Given the description of an element on the screen output the (x, y) to click on. 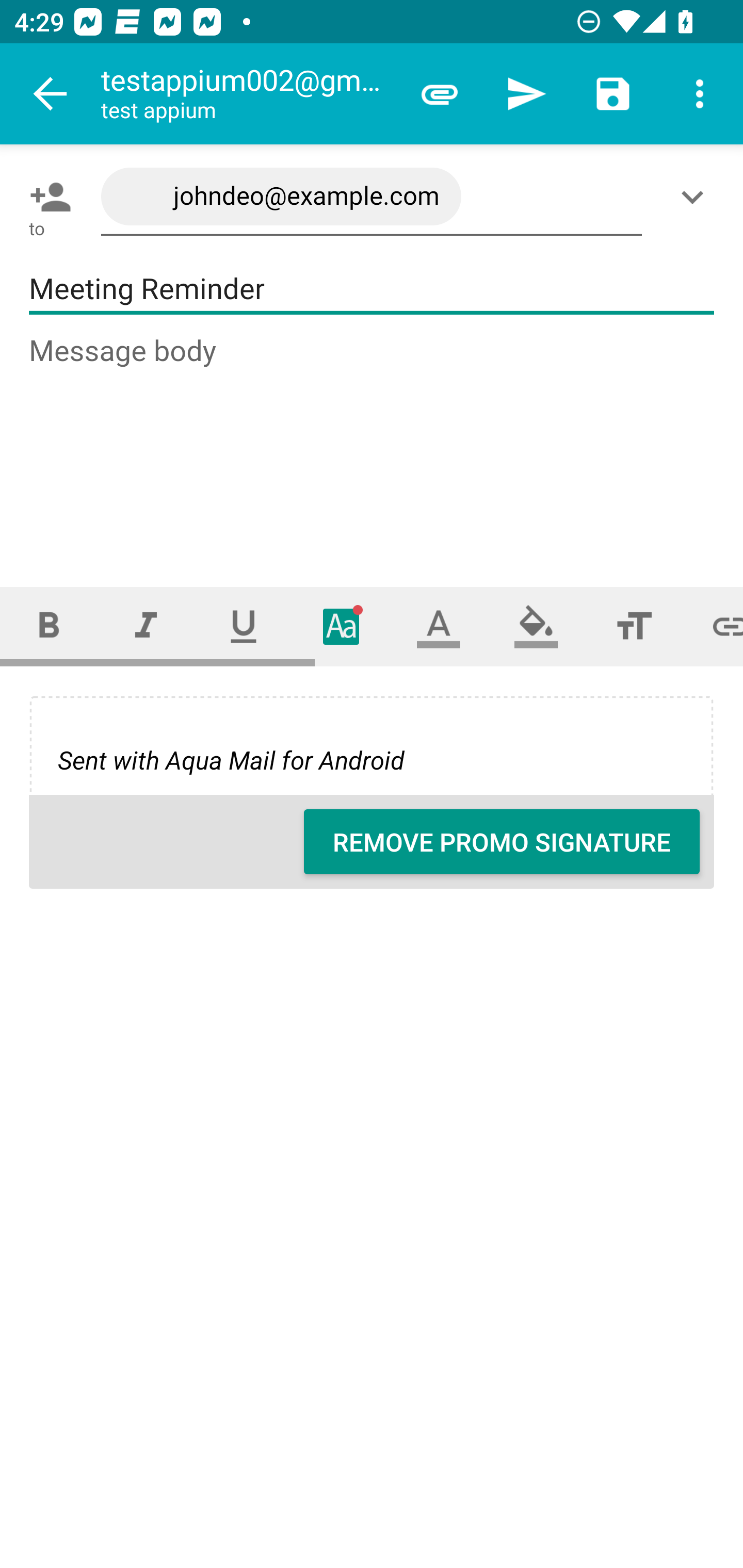
Navigate up (50, 93)
testappium002@gmail.com test appium (248, 93)
Attach (439, 93)
Send (525, 93)
Save (612, 93)
More options (699, 93)
johndeo@example.com,  (371, 197)
Pick contact: To (46, 196)
Show/Add CC/BCC (696, 196)
Meeting Reminder (371, 288)
Message body (372, 442)
Bold (48, 626)
Italic (145, 626)
Underline (243, 626)
Typeface (font) (341, 626)
Text color (438, 626)
Fill color (536, 626)
Font size (633, 626)
Set link (712, 626)
REMOVE PROMO SIGNATURE (501, 841)
